Given the description of an element on the screen output the (x, y) to click on. 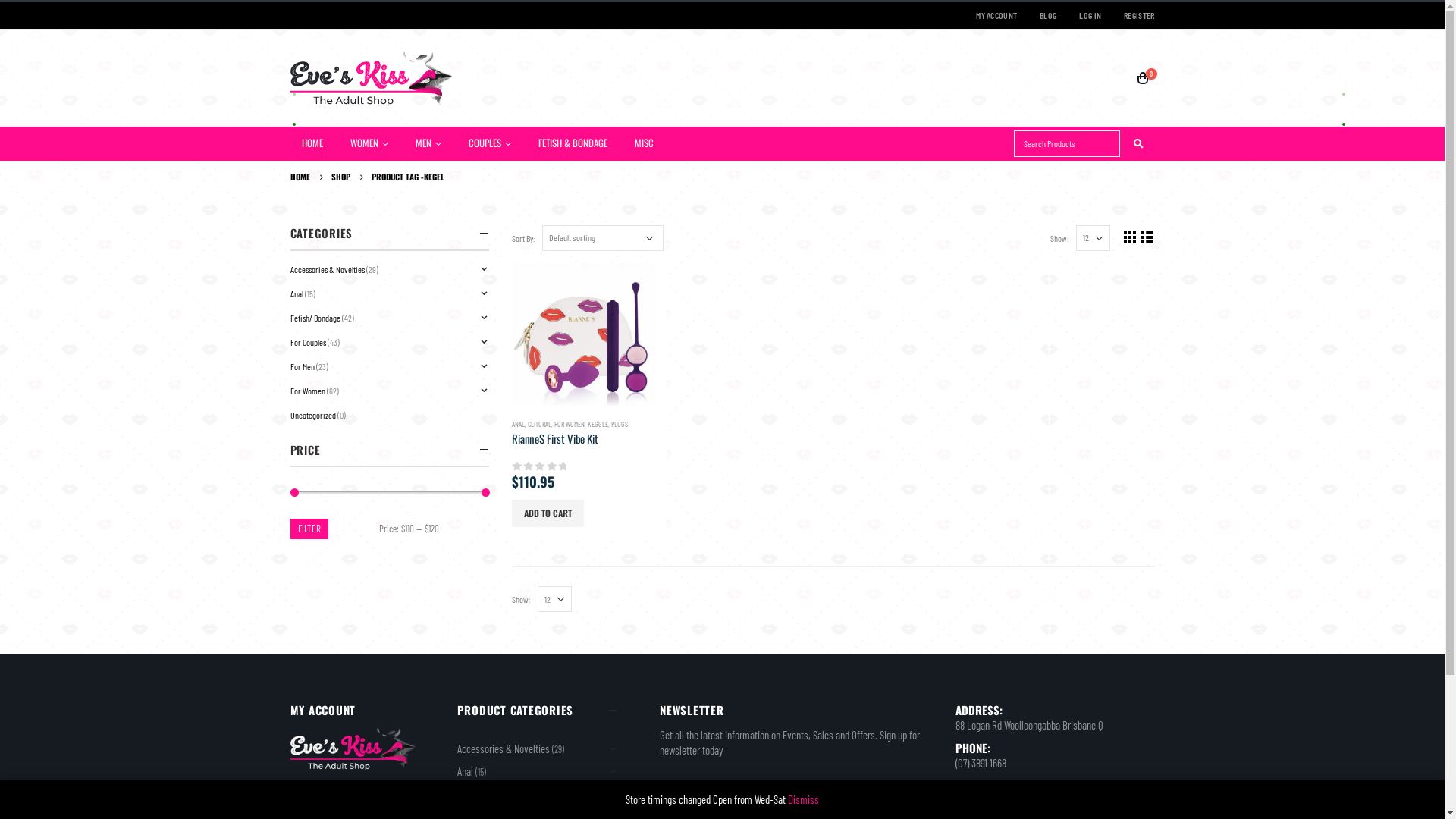
MISC Element type: text (645, 143)
Dismiss Element type: text (803, 799)
My account Element type: text (310, 788)
CLITORAL Element type: text (539, 423)
FILTER Element type: text (308, 528)
KEGGLE Element type: text (597, 423)
Fetish/ Bondage Element type: text (487, 793)
HOME Element type: text (299, 176)
For Women Element type: text (306, 390)
ADD TO CART Element type: text (547, 513)
COUPLES Element type: text (490, 143)
For Men Element type: text (301, 366)
BLOG Element type: text (1047, 14)
SUBSCRIBE > Element type: text (877, 796)
SHOP Element type: text (339, 176)
Fetish/ Bondage Element type: text (314, 317)
Eveskiss Adult Shop - Brisbane Element type: hover (370, 78)
ANAL Element type: text (517, 423)
RianneS First Vibe Kit Element type: text (583, 437)
Accessories & Novelties Element type: text (326, 269)
Search Element type: hover (1138, 143)
Anal Element type: text (464, 770)
Accessories & Novelties Element type: text (502, 748)
Uncategorized Element type: text (312, 414)
MEN Element type: text (429, 143)
info@eveskiss.com.au Element type: text (998, 800)
List View Element type: hover (1146, 236)
HOME Element type: text (313, 143)
REGISTER Element type: text (1133, 14)
WOMEN Element type: text (370, 143)
PLUGS Element type: text (619, 423)
Anal Element type: text (295, 293)
Blog Element type: text (297, 805)
For Couples Element type: text (307, 341)
MY ACCOUNT Element type: text (996, 14)
FETISH & BONDAGE Element type: text (573, 143)
FOR WOMEN Element type: text (569, 423)
LOG IN Element type: text (1089, 14)
Grid View Element type: hover (1129, 236)
